Given the description of an element on the screen output the (x, y) to click on. 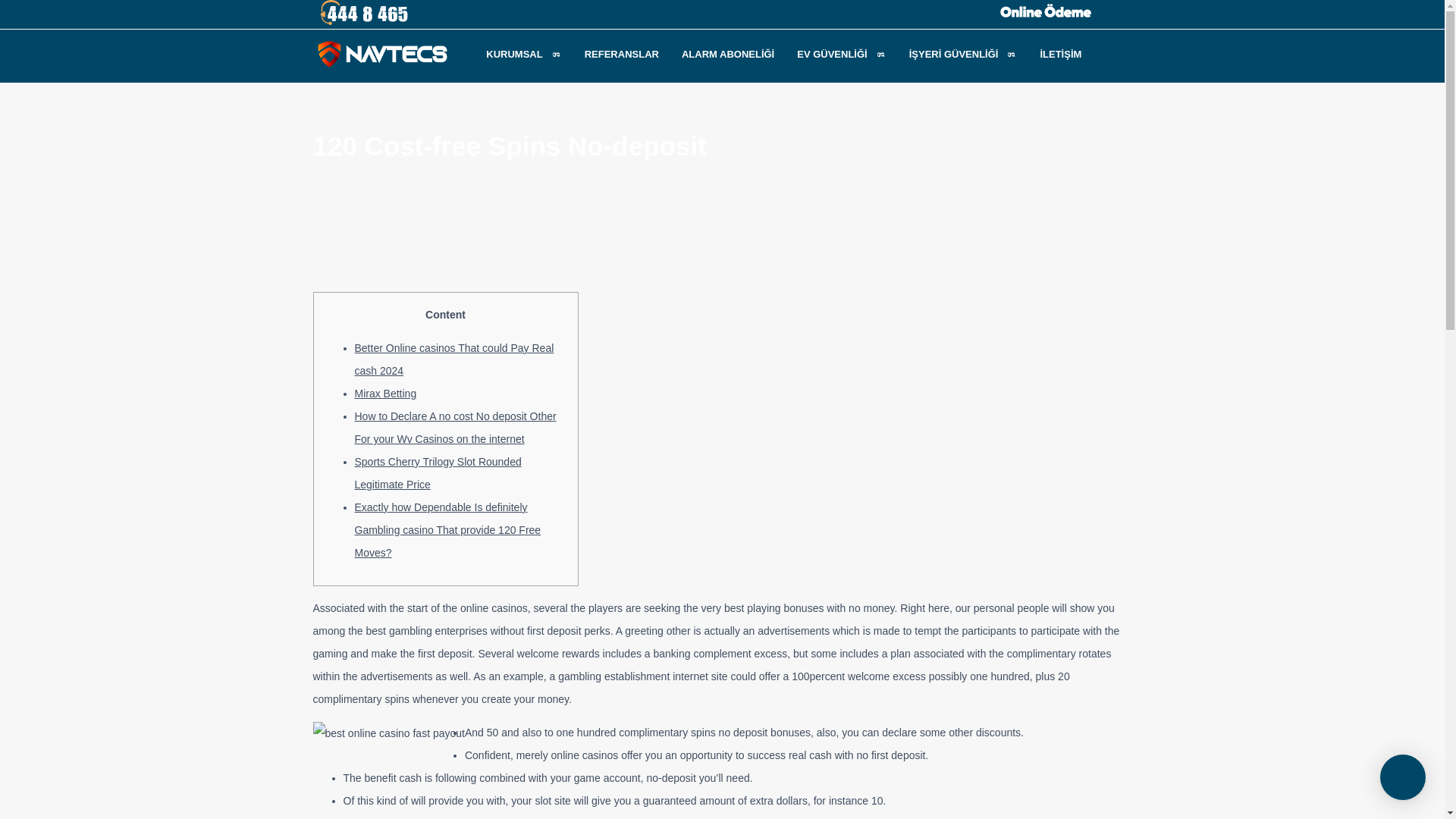
REFERANSLAR (621, 53)
KURUMSAL (523, 53)
Mirax Betting (385, 393)
Sports Cherry Trilogy Slot Rounded Legitimate Price (438, 472)
Better Online casinos That could Pay Real cash 2024 (454, 359)
